Given the description of an element on the screen output the (x, y) to click on. 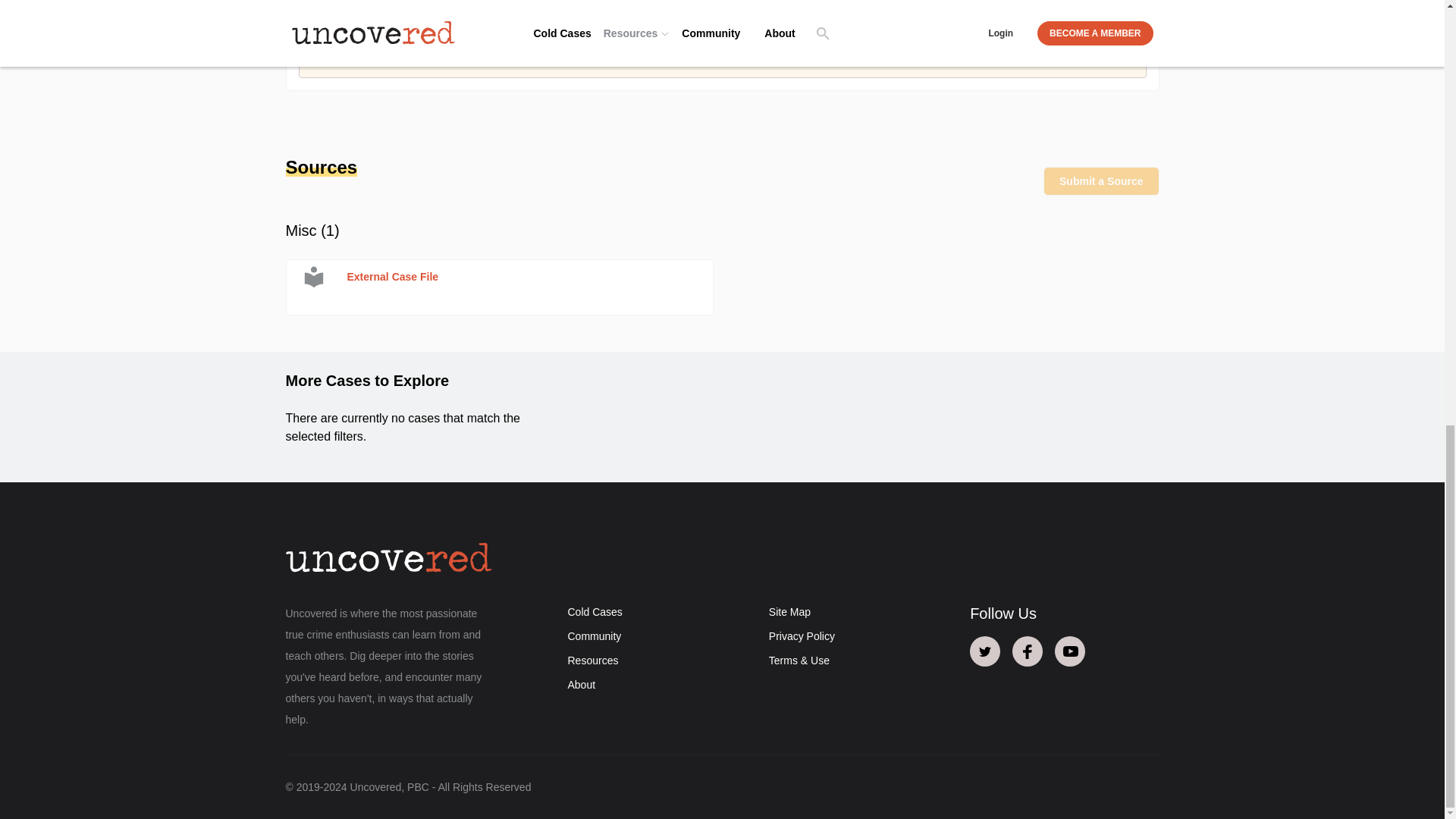
Resources (592, 660)
Community (594, 635)
Contribute to this Case (1058, 49)
Site Map (789, 612)
External Case File (499, 287)
Click here to join us (437, 57)
About (581, 684)
Cold Cases (594, 612)
Submit a Source (1100, 181)
